Given the description of an element on the screen output the (x, y) to click on. 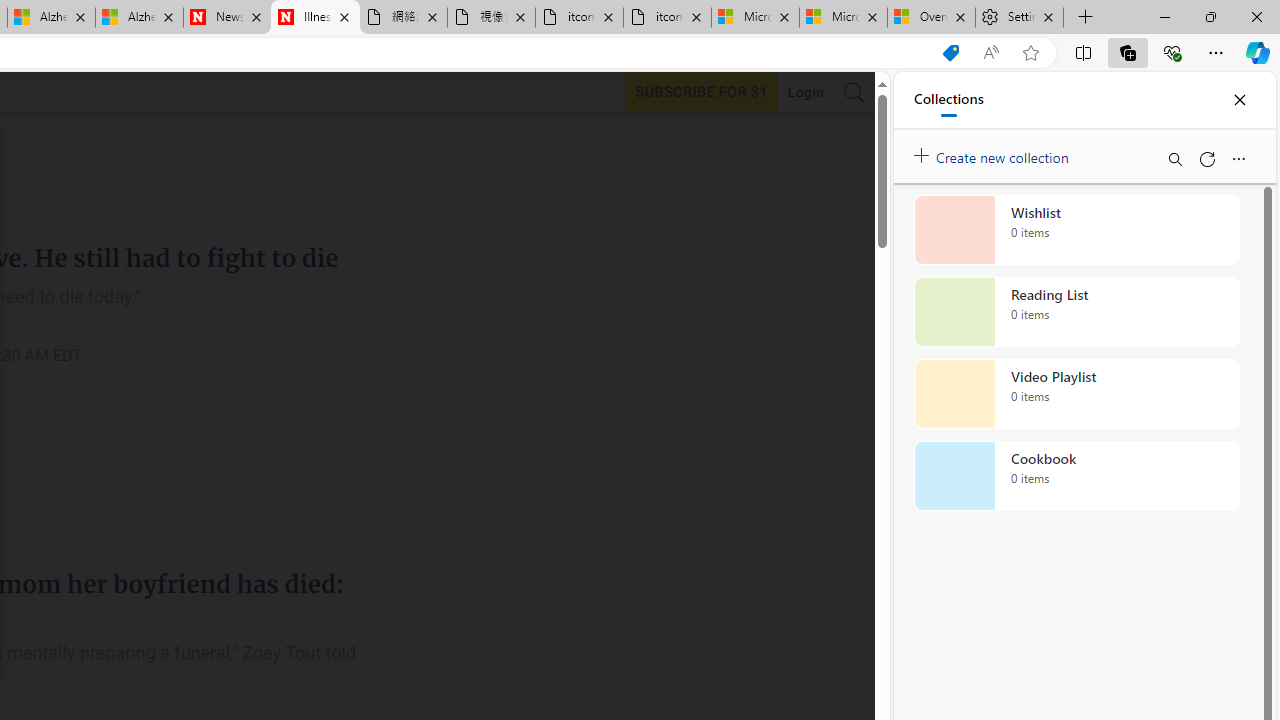
Create new collection (994, 153)
Illness news & latest pictures from Newsweek.com (315, 17)
Subscribe to our service (701, 91)
Reading List collection, 0 items (1076, 312)
Video Playlist collection, 0 items (1076, 394)
Wishlist collection, 0 items (1076, 229)
AutomationID: search-btn (854, 92)
Cookbook collection, 0 items (1076, 475)
